Given the description of an element on the screen output the (x, y) to click on. 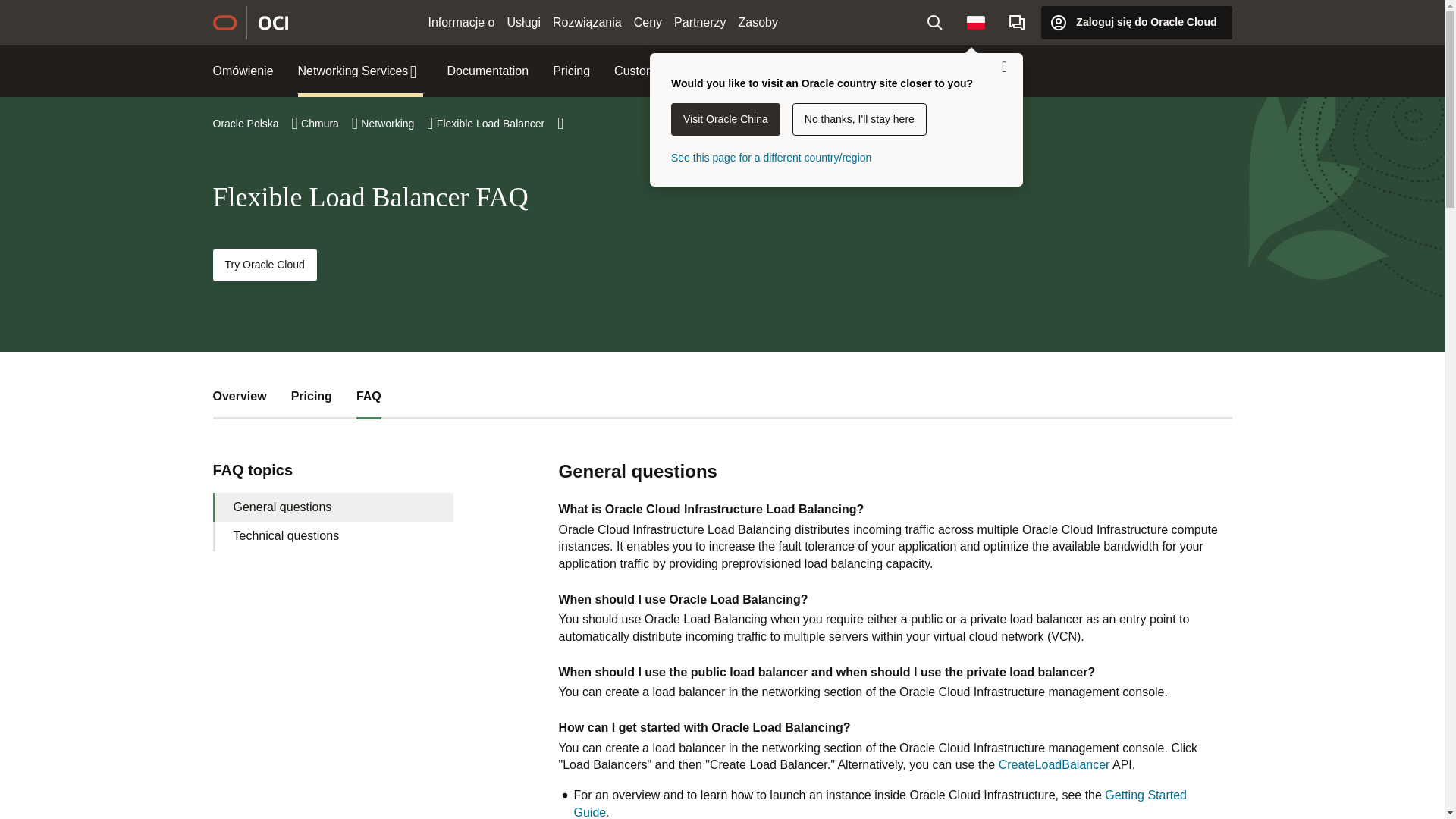
Country (975, 22)
Partnerzy (700, 22)
No thanks, I'll stay here (859, 119)
Kontakt (1016, 22)
Ceny (647, 22)
Informacje o (461, 22)
Zasoby (758, 22)
Visit Oracle China (725, 119)
